Given the description of an element on the screen output the (x, y) to click on. 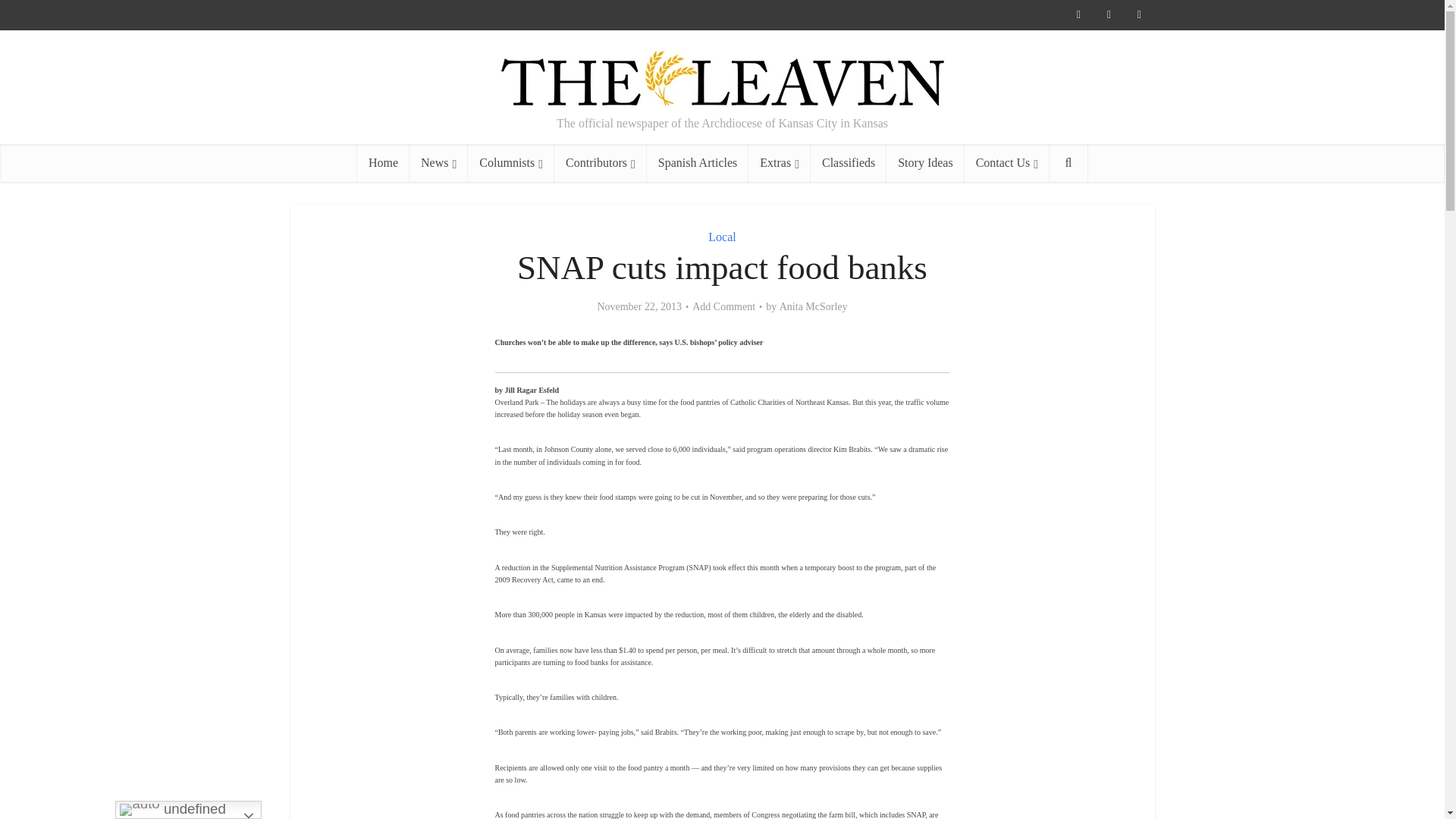
None (438, 162)
Classifieds (848, 162)
News (438, 162)
Extras (779, 162)
Home (382, 162)
Spanish Articles (697, 162)
Columnists (510, 162)
Contributors (600, 162)
